Given the description of an element on the screen output the (x, y) to click on. 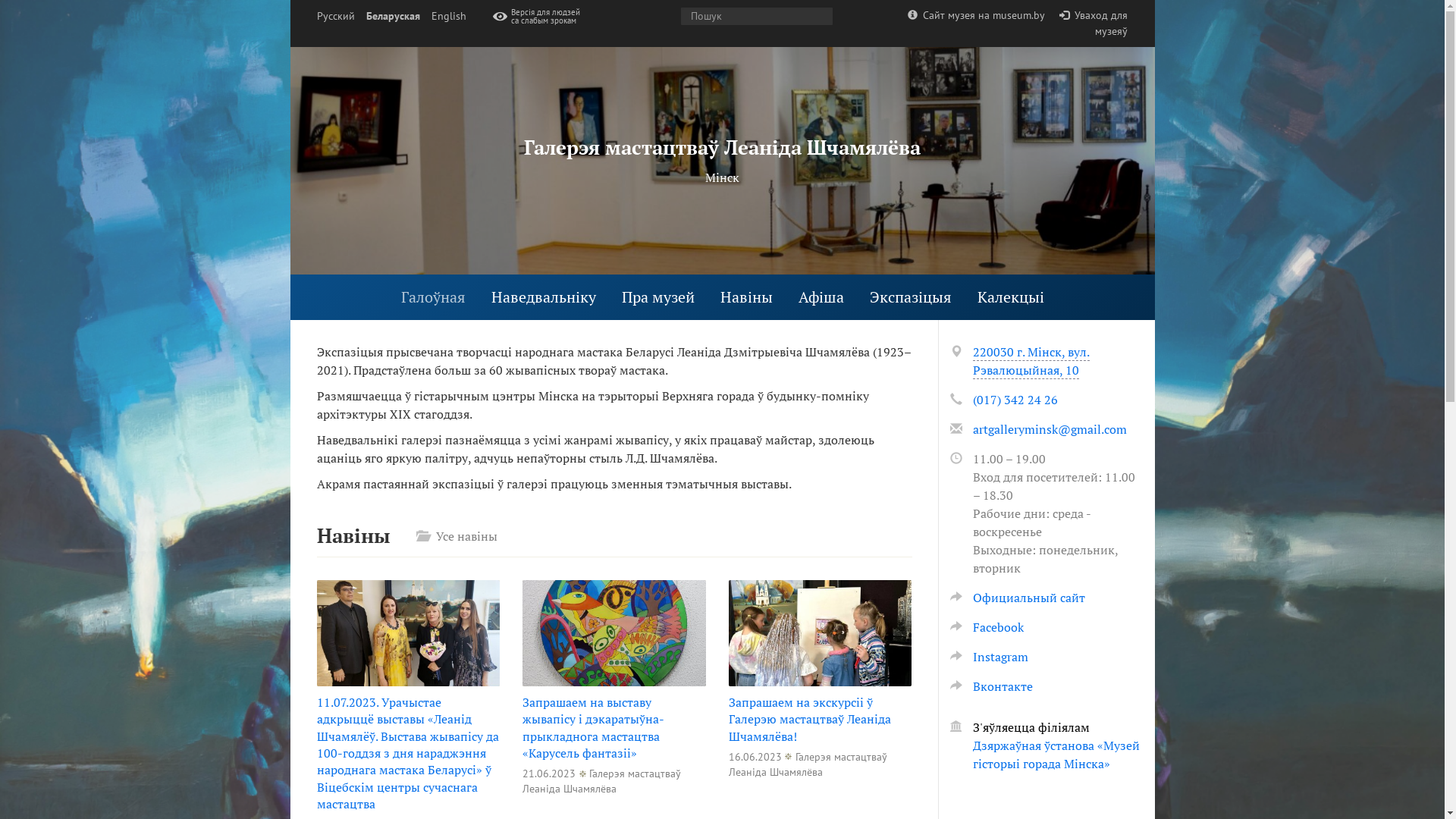
(017) 342 24 26 Element type: text (1014, 399)
English Element type: text (447, 16)
Facebook Element type: text (985, 626)
Instagram Element type: text (988, 656)
artgalleryminsk@gmail.com Element type: text (1049, 428)
